Given the description of an element on the screen output the (x, y) to click on. 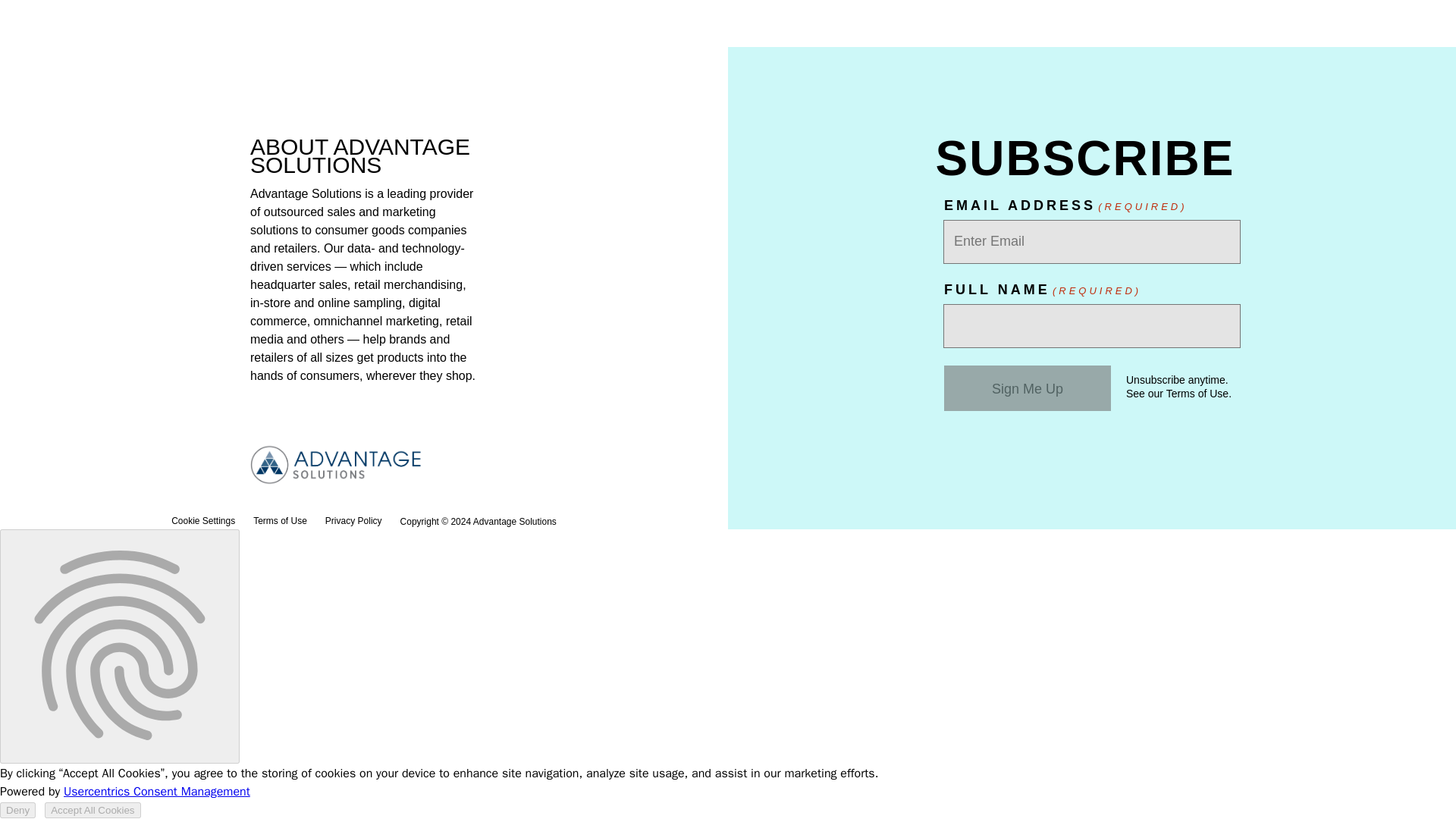
Sign Me Up (1026, 388)
